Given the description of an element on the screen output the (x, y) to click on. 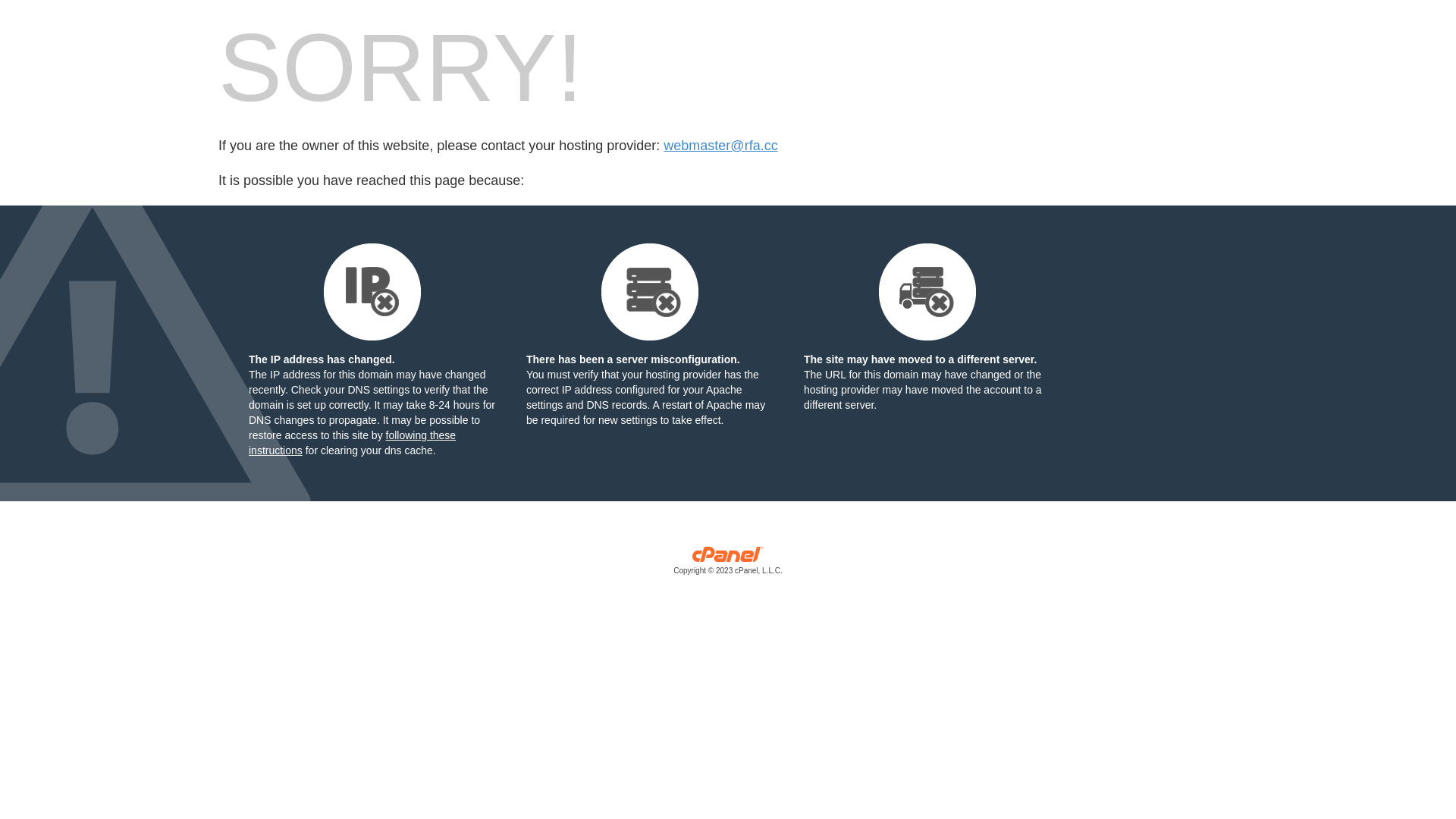
webmaster@rfa.cc Element type: text (720, 145)
following these instructions Element type: text (351, 442)
